Given the description of an element on the screen output the (x, y) to click on. 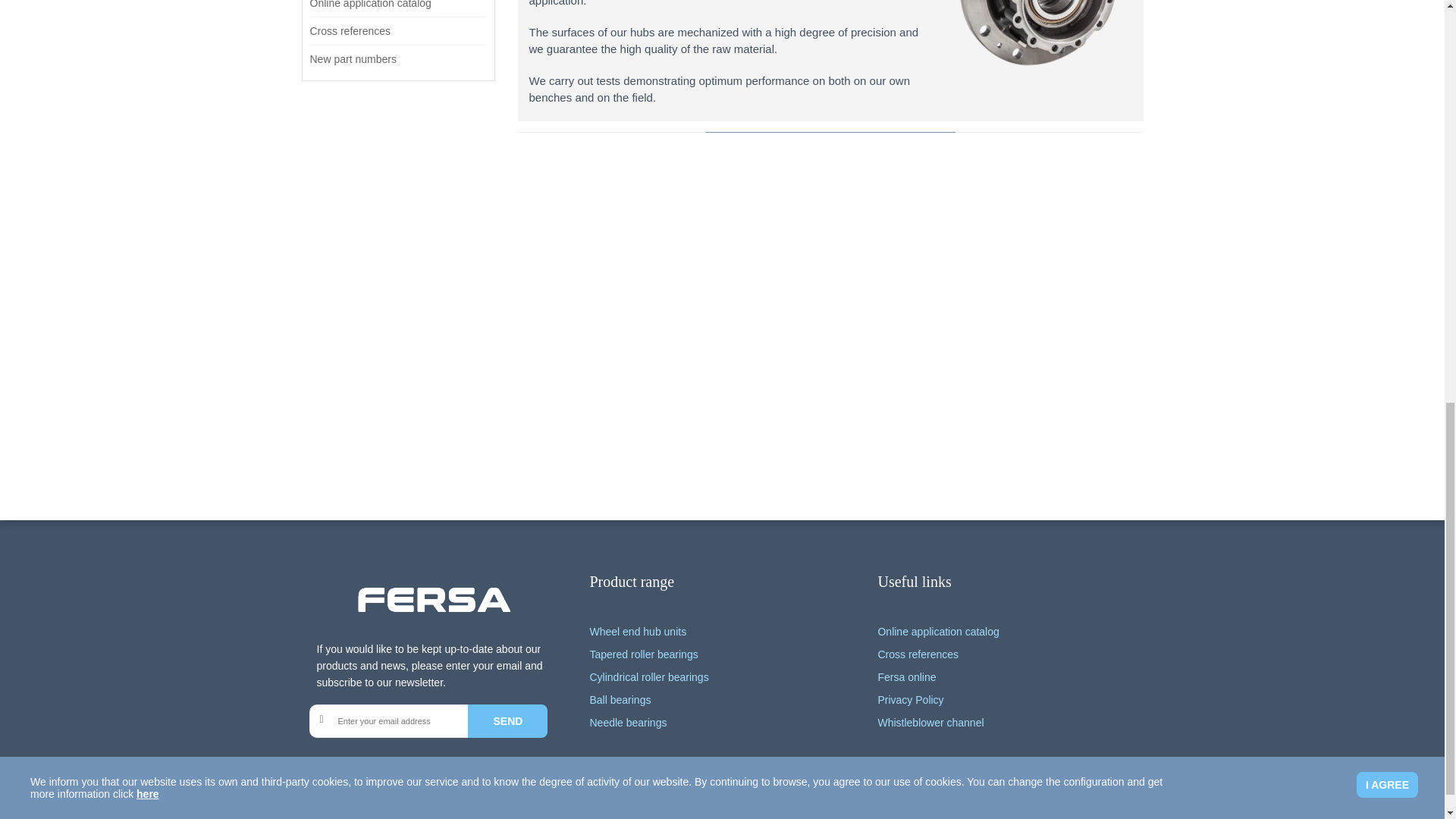
Send (507, 720)
